Given the description of an element on the screen output the (x, y) to click on. 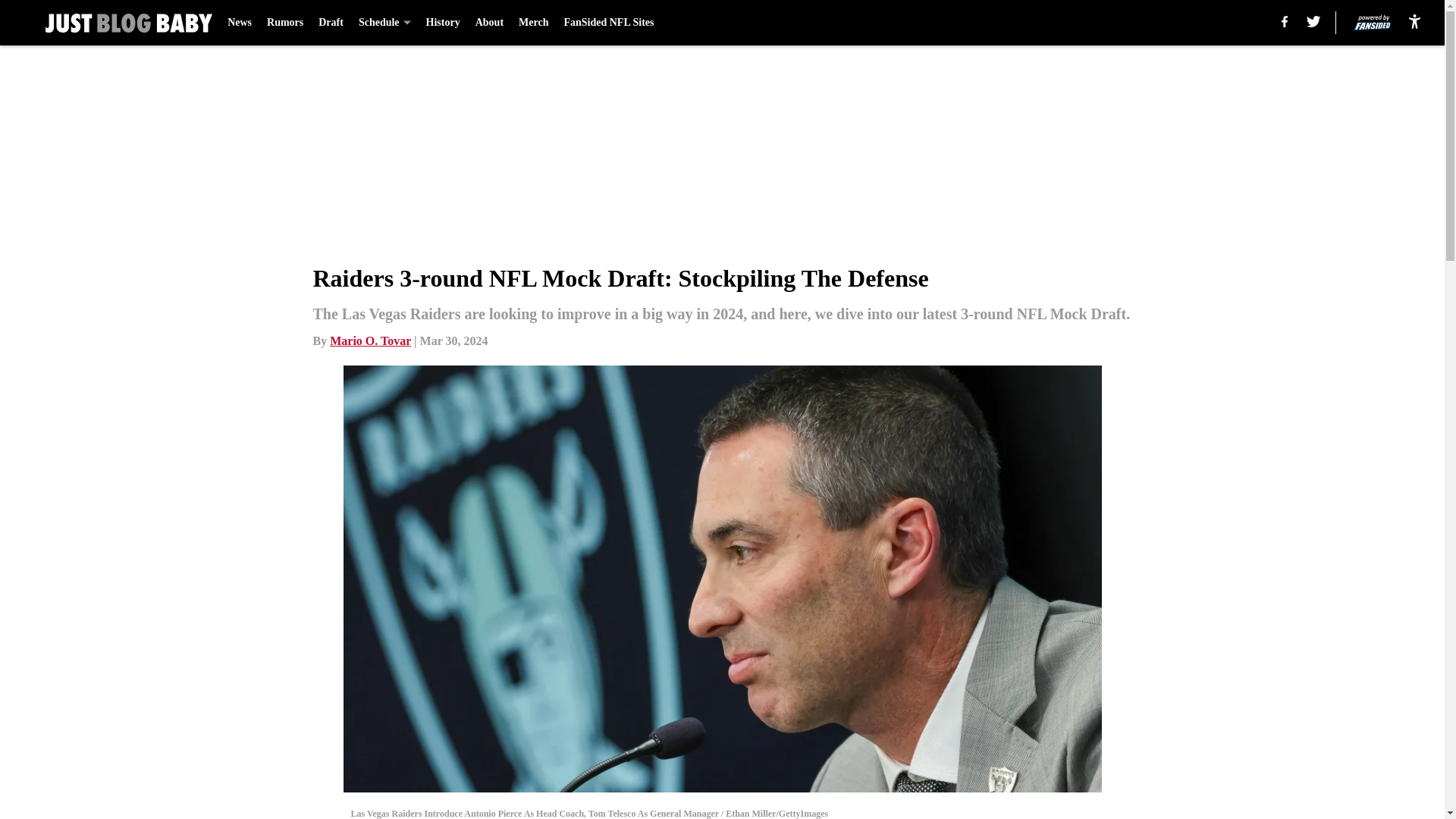
Merch (533, 22)
About (489, 22)
History (443, 22)
News (239, 22)
Rumors (284, 22)
Mario O. Tovar (370, 340)
FanSided NFL Sites (608, 22)
Draft (330, 22)
